Given the description of an element on the screen output the (x, y) to click on. 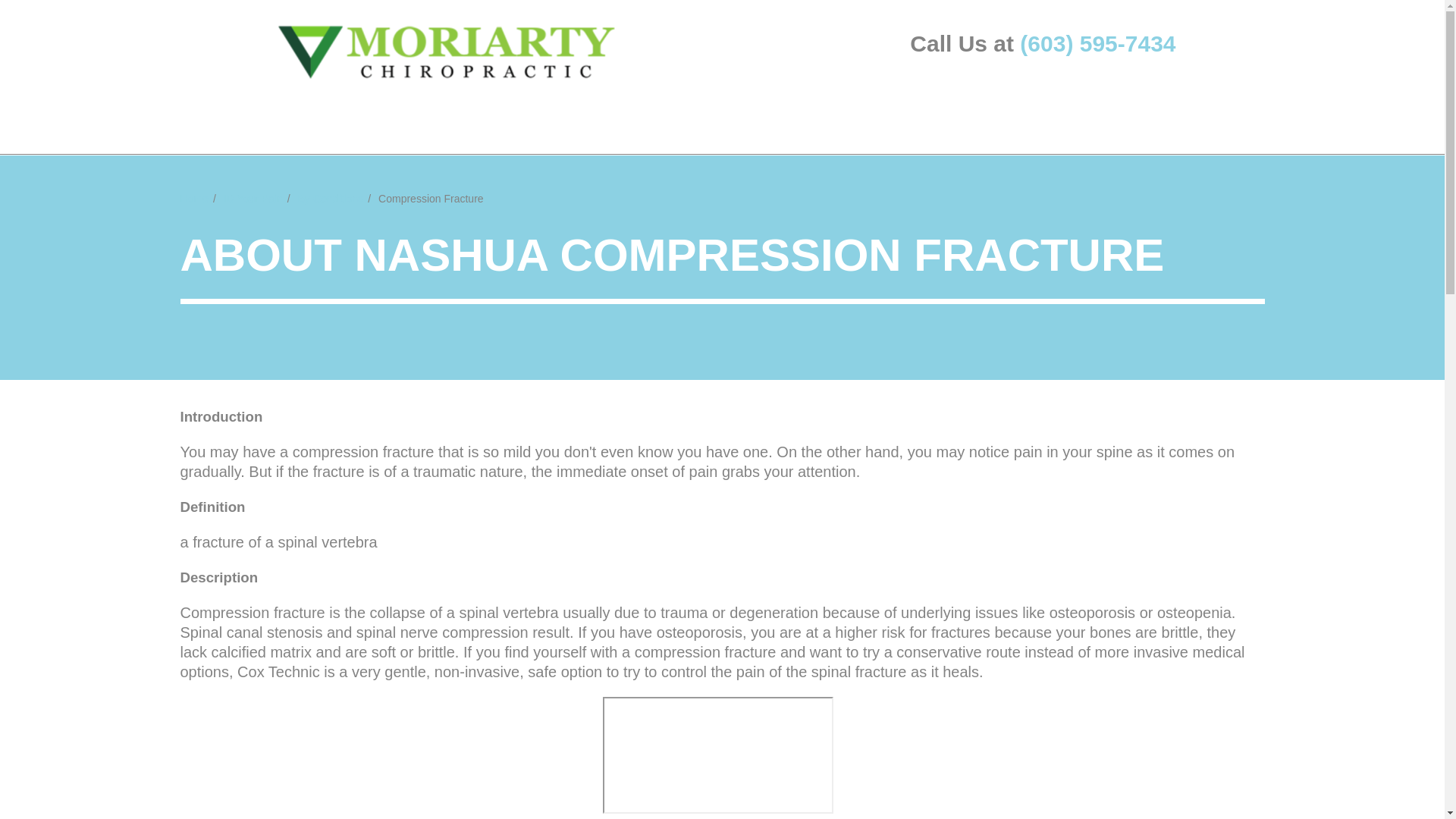
GET RELIEF (322, 117)
ID YOUR PAIN (208, 117)
Moriarty Chiropractic Home (446, 51)
